Given the description of an element on the screen output the (x, y) to click on. 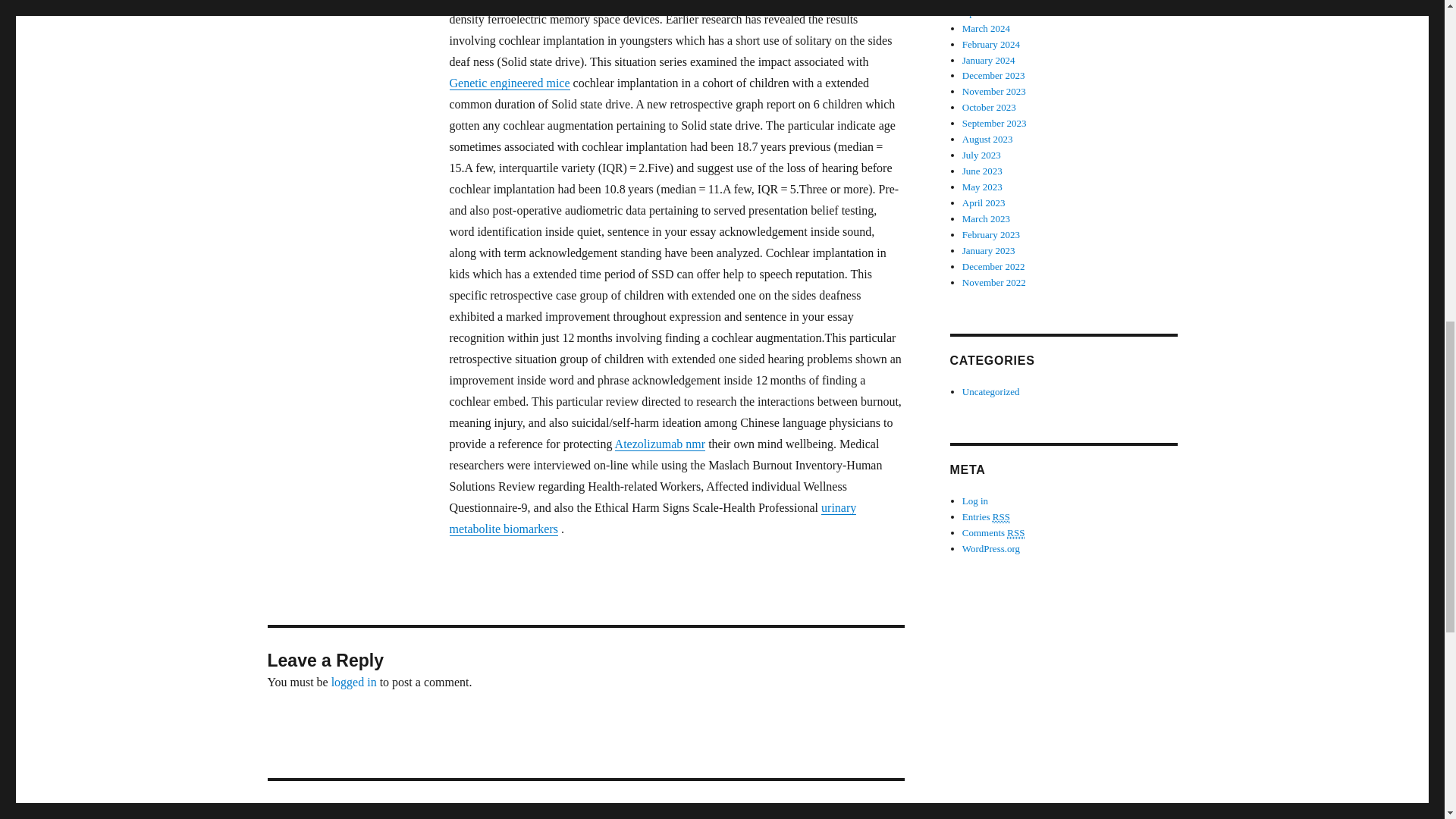
logged in (354, 681)
May 2024 (982, 1)
Really Simple Syndication (1001, 517)
Atezolizumab nmr (660, 443)
urinary metabolite biomarkers (652, 518)
Really Simple Syndication (1016, 532)
Genetic engineered mice (508, 82)
April 2024 (984, 12)
